Given the description of an element on the screen output the (x, y) to click on. 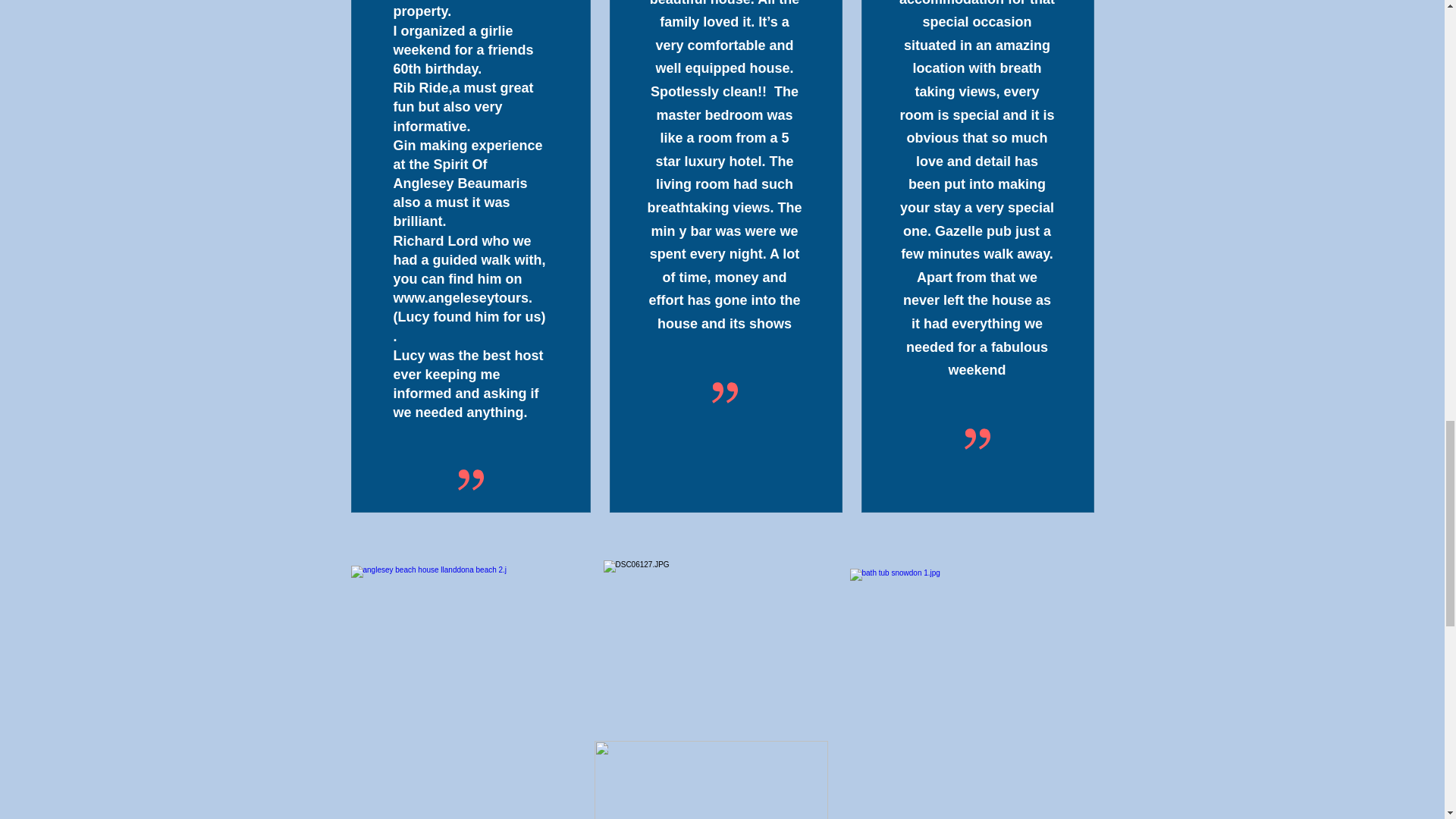
beach house tall.png (711, 779)
